Given the description of an element on the screen output the (x, y) to click on. 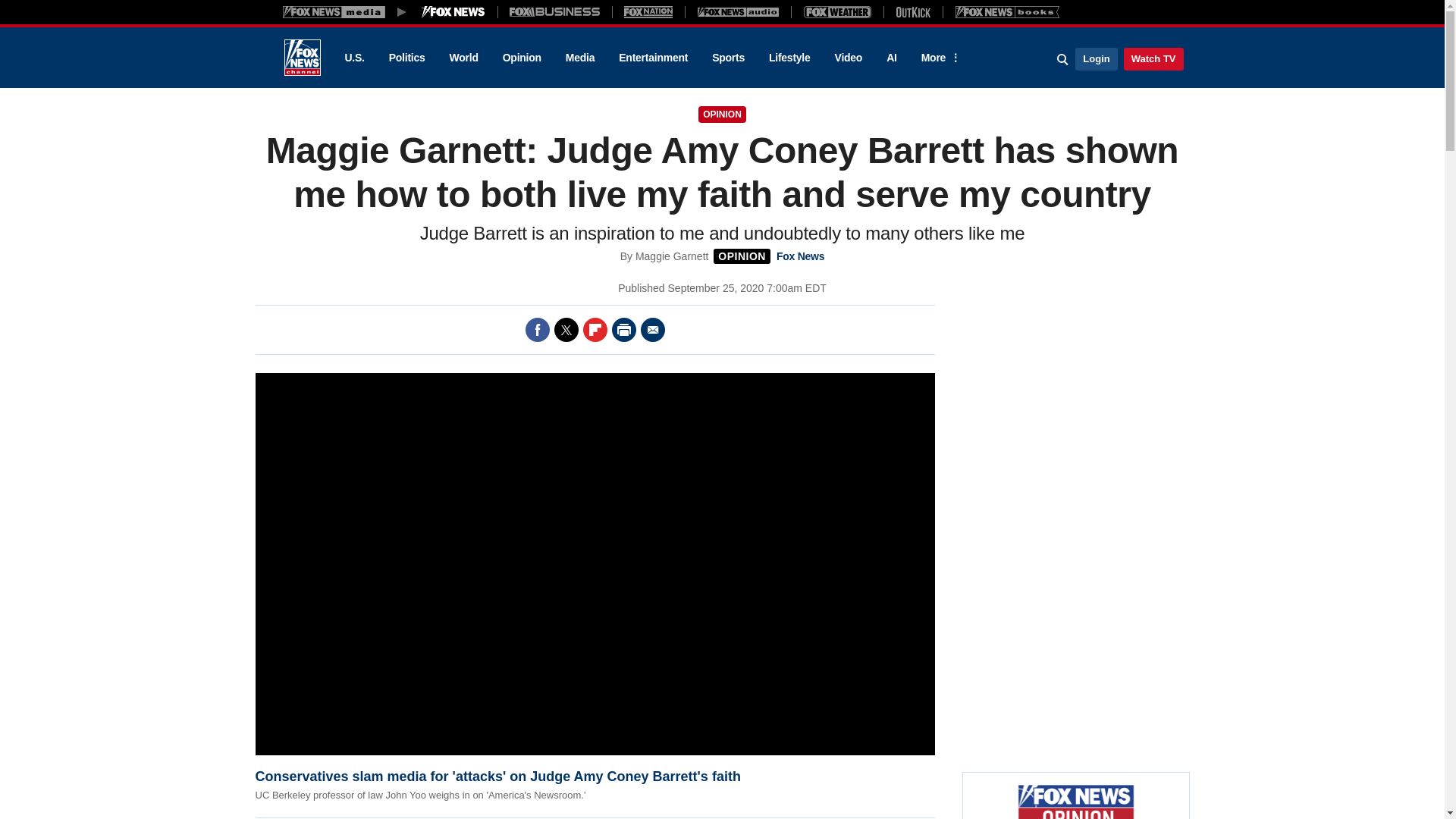
Fox Weather (836, 11)
Entertainment (653, 57)
U.S. (353, 57)
Login (1095, 58)
Fox News Audio (737, 11)
AI (891, 57)
Outkick (912, 11)
Sports (728, 57)
Lifestyle (789, 57)
Video (848, 57)
Fox Nation (648, 11)
Fox News (301, 57)
Opinion (521, 57)
World (464, 57)
Politics (407, 57)
